Given the description of an element on the screen output the (x, y) to click on. 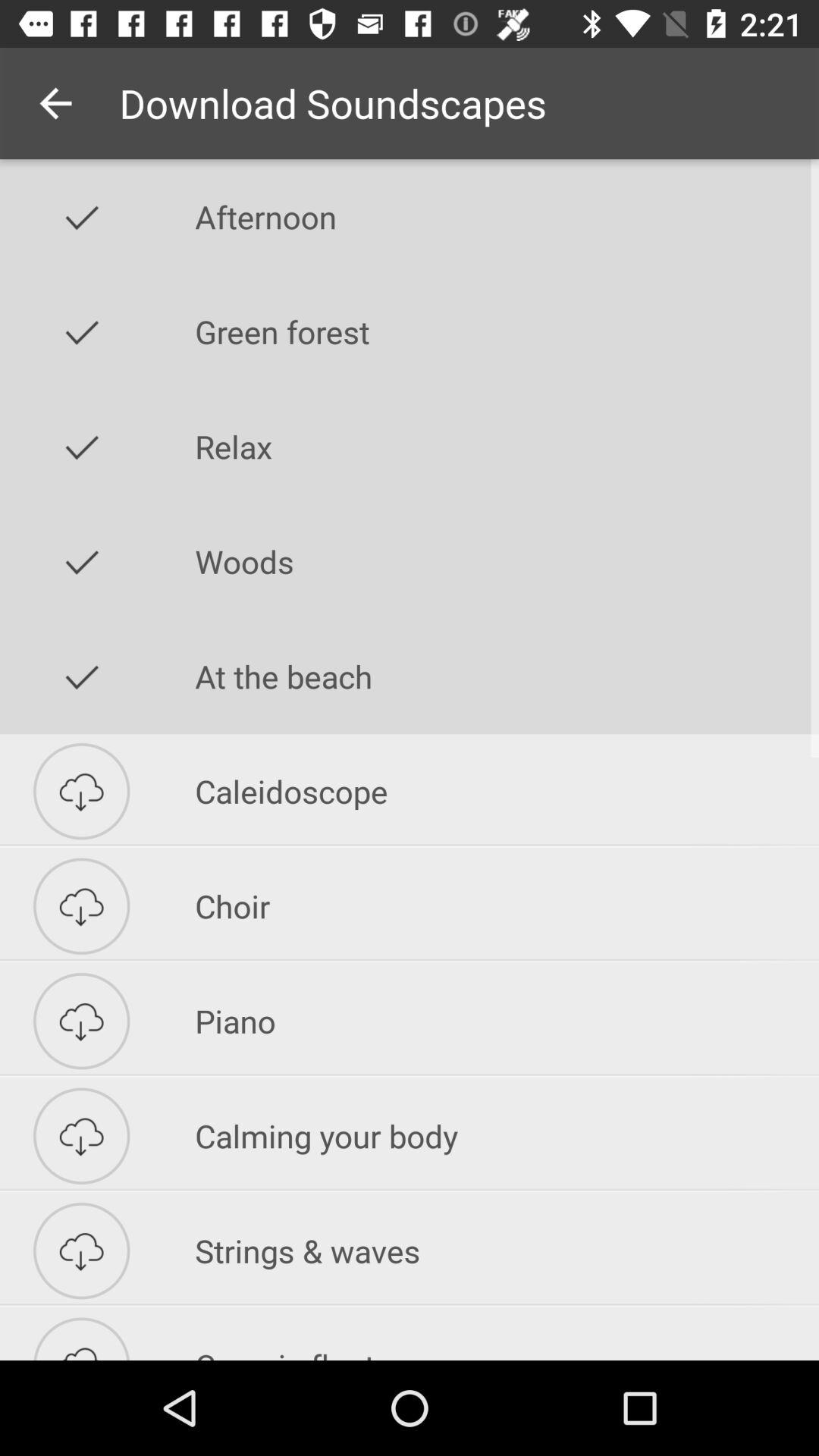
launch icon above the green forest icon (507, 216)
